Given the description of an element on the screen output the (x, y) to click on. 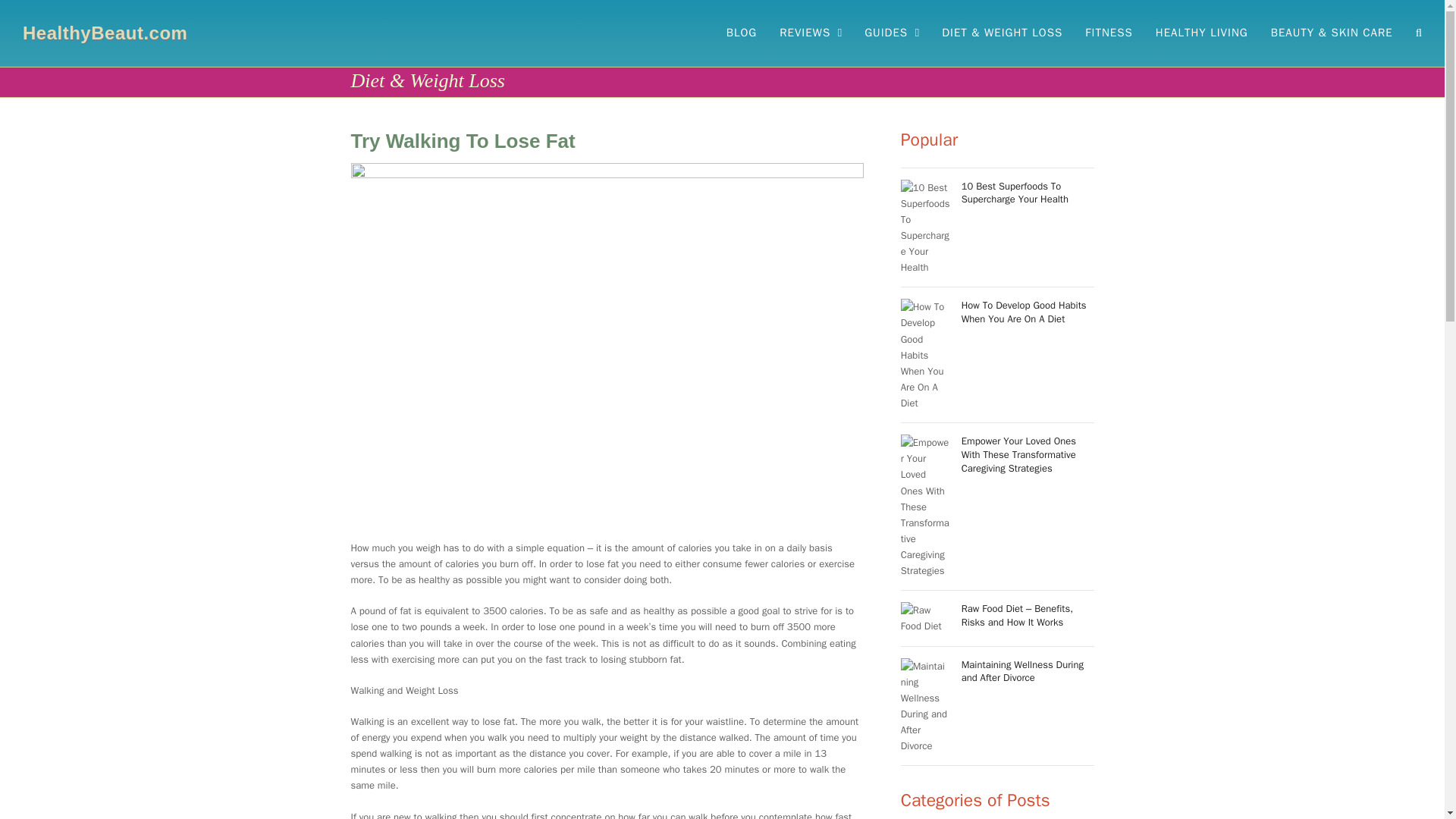
REVIEWS (810, 33)
HealthyBeaut.com (105, 32)
BLOG (741, 33)
GUIDES (891, 33)
How To Develop Good Habits When You Are On A Diet (997, 354)
10 Best Superfoods To Supercharge Your Health (997, 227)
FITNESS (1108, 33)
HEALTHY LIVING (1201, 33)
Maintaining Wellness During and After Divorce (997, 706)
